Given the description of an element on the screen output the (x, y) to click on. 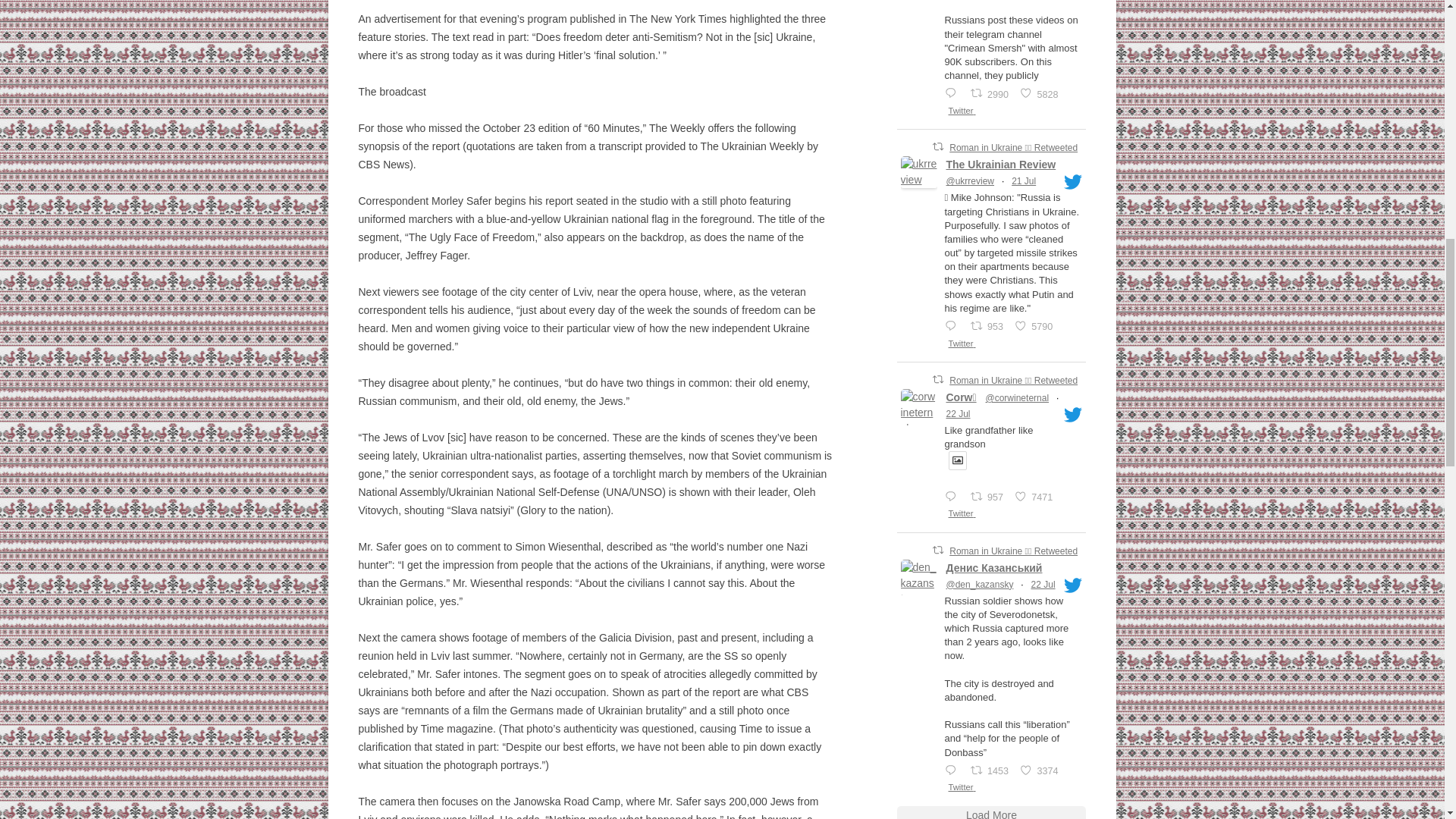
Retweet on Twitter (938, 146)
Twitter 1815746201498554634 (964, 110)
Reply on Twitter 1815746201498554634 (953, 92)
